Given the description of an element on the screen output the (x, y) to click on. 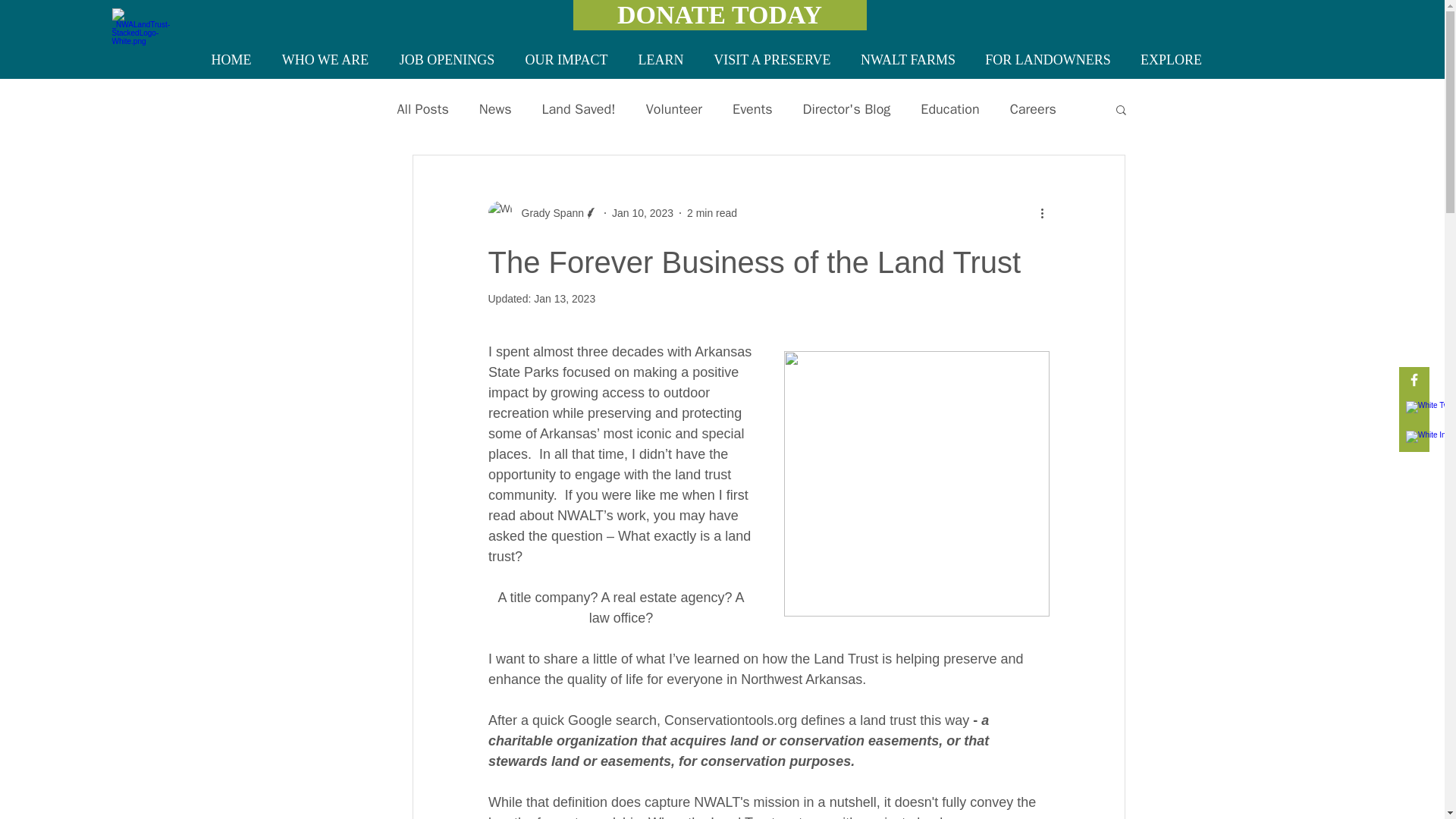
WHO WE ARE (325, 60)
HOME (230, 60)
Grady Spann (548, 212)
JOB OPENINGS (446, 60)
OUR IMPACT (566, 60)
LEARN (660, 60)
VISIT A PRESERVE (771, 60)
FOR LANDOWNERS (1048, 60)
DONATE TODAY (719, 15)
Jan 10, 2023 (641, 212)
